Given the description of an element on the screen output the (x, y) to click on. 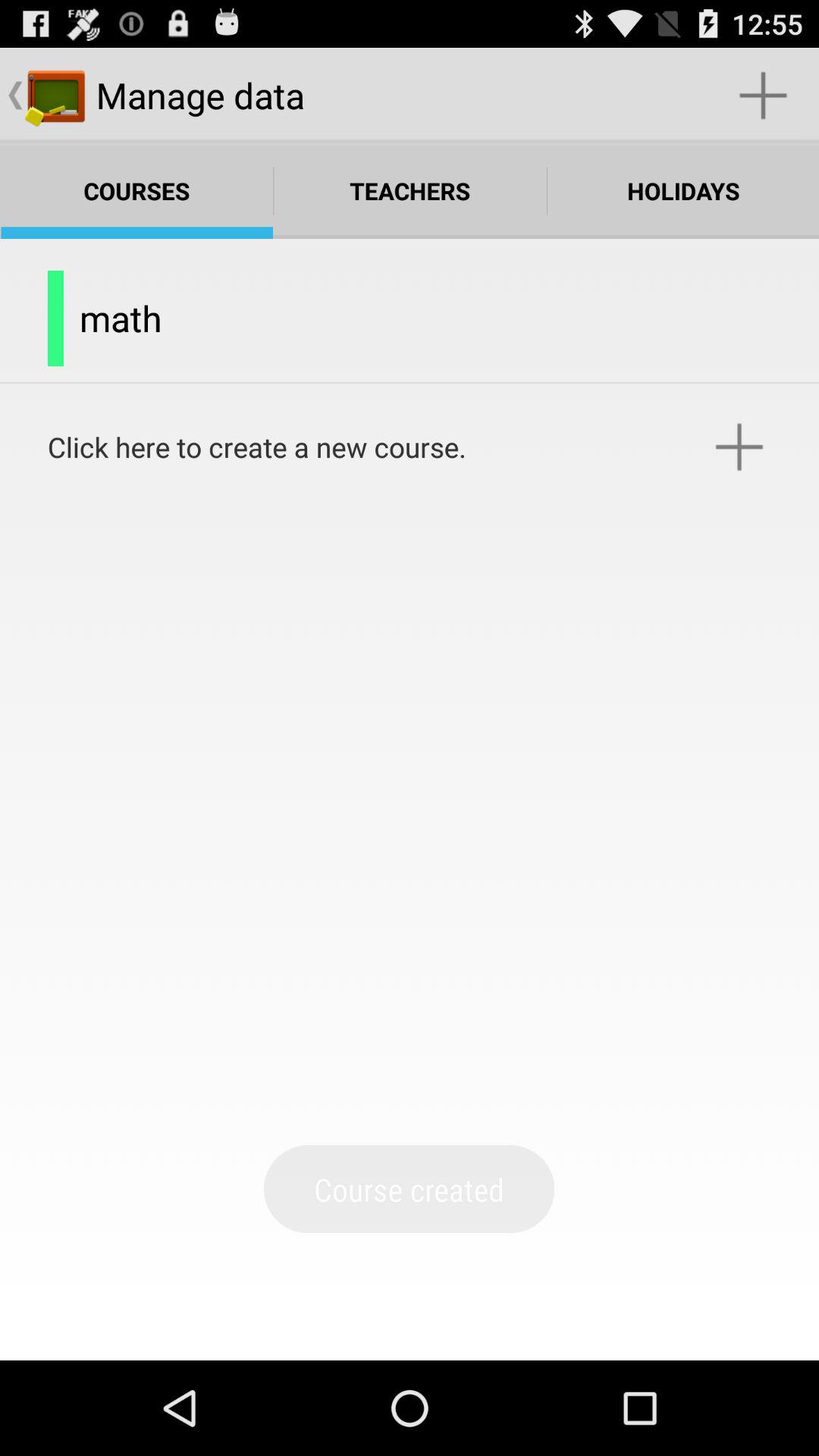
select the icon next to the manage data app (763, 95)
